Given the description of an element on the screen output the (x, y) to click on. 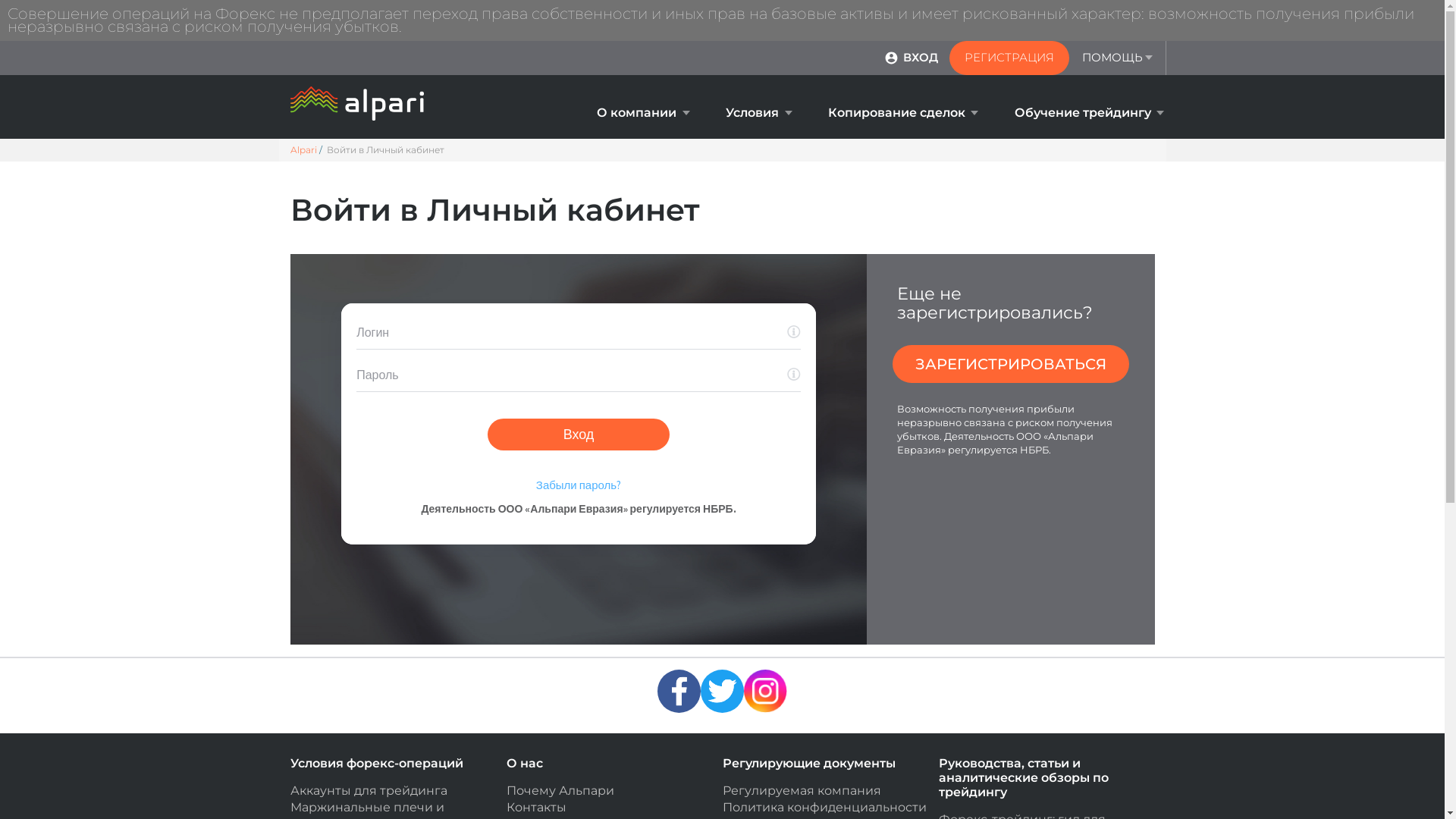
Alpari Element type: text (302, 149)
